Given the description of an element on the screen output the (x, y) to click on. 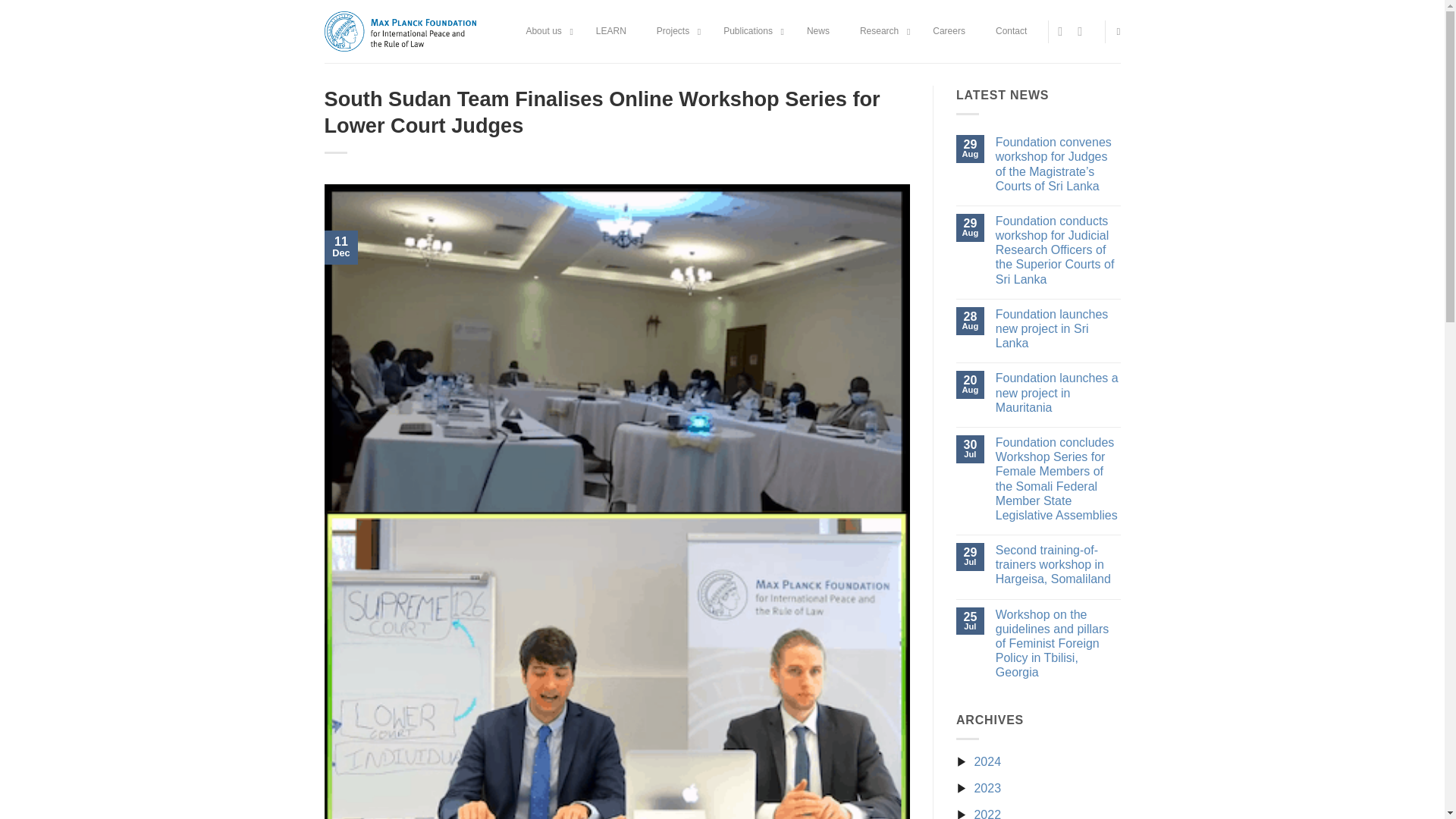
Foundation launches new project in Sri Lanka (1058, 329)
Foundation launches a new project in Mauritania (1058, 392)
Second training-of-trainers workshop in Hargeisa, Somaliland (1058, 564)
LEARN (611, 31)
Projects (674, 31)
Follow on LinkedIn (1083, 30)
Follow on X (1064, 30)
